Given the description of an element on the screen output the (x, y) to click on. 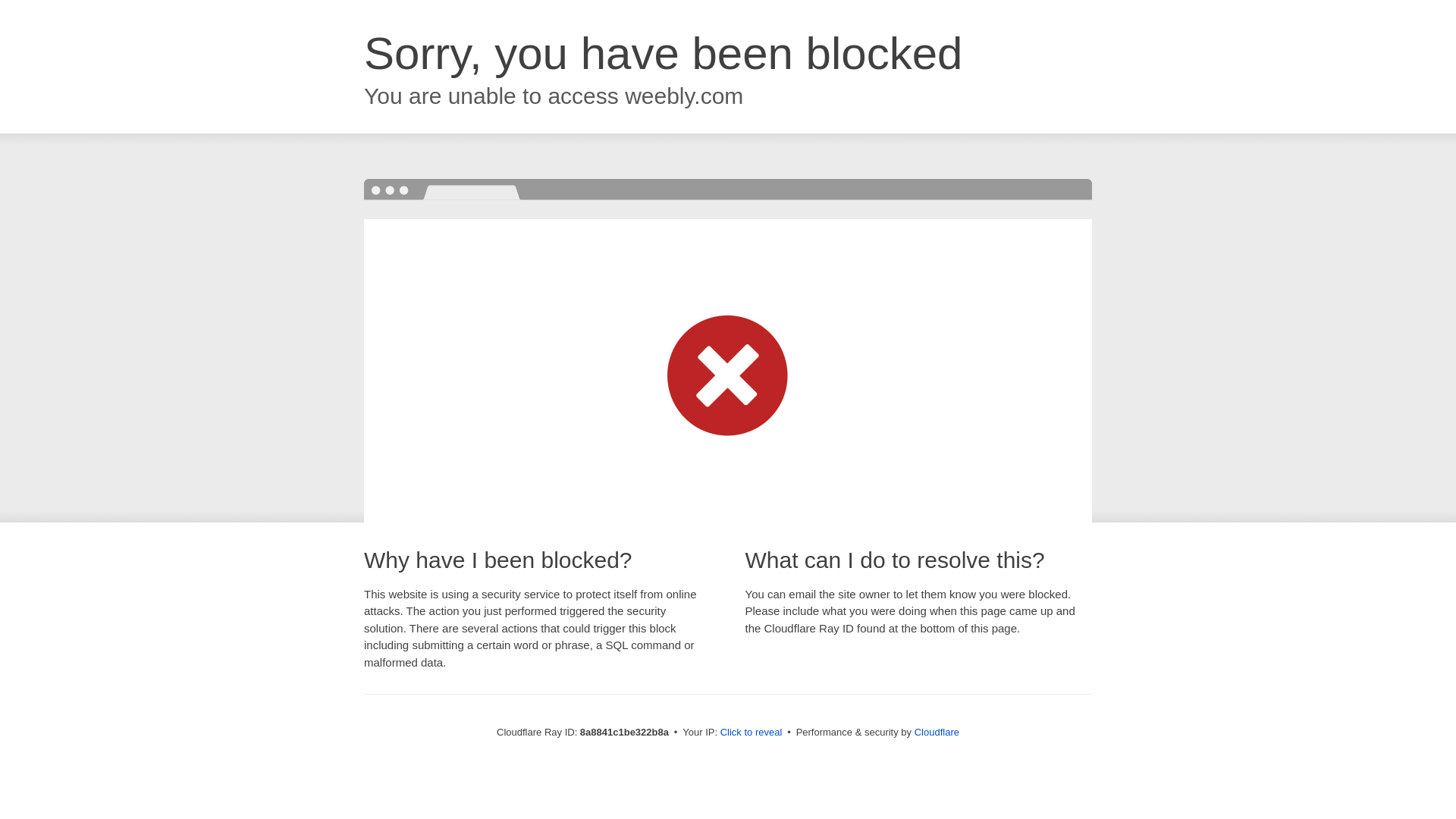
Click to reveal (751, 732)
Cloudflare (936, 731)
